Given the description of an element on the screen output the (x, y) to click on. 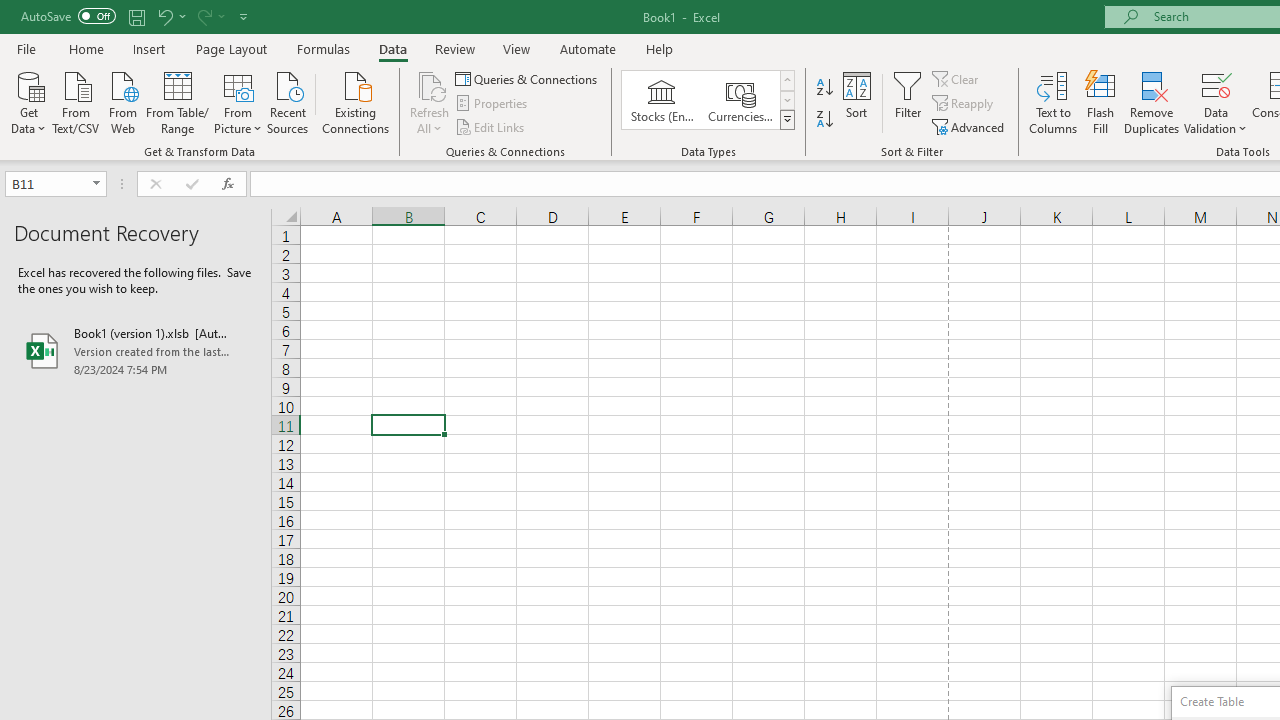
From Picture (238, 101)
